Given the description of an element on the screen output the (x, y) to click on. 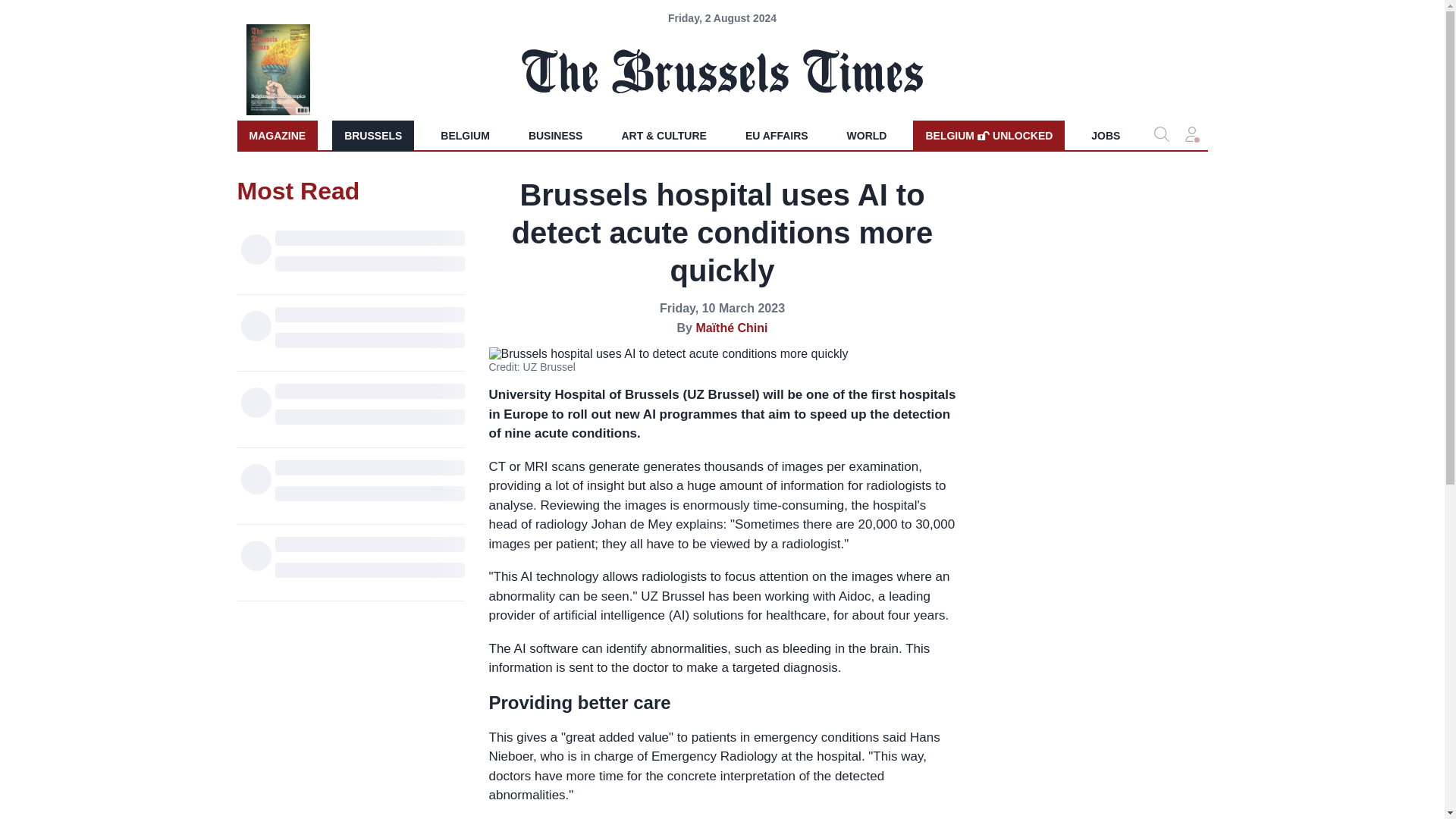
EU AFFAIRS (777, 135)
BUSINESS (555, 135)
BELGIUM (465, 135)
JOBS (1105, 135)
MAGAZINE (276, 135)
BRUSSELS (988, 135)
WORLD (372, 135)
